Given the description of an element on the screen output the (x, y) to click on. 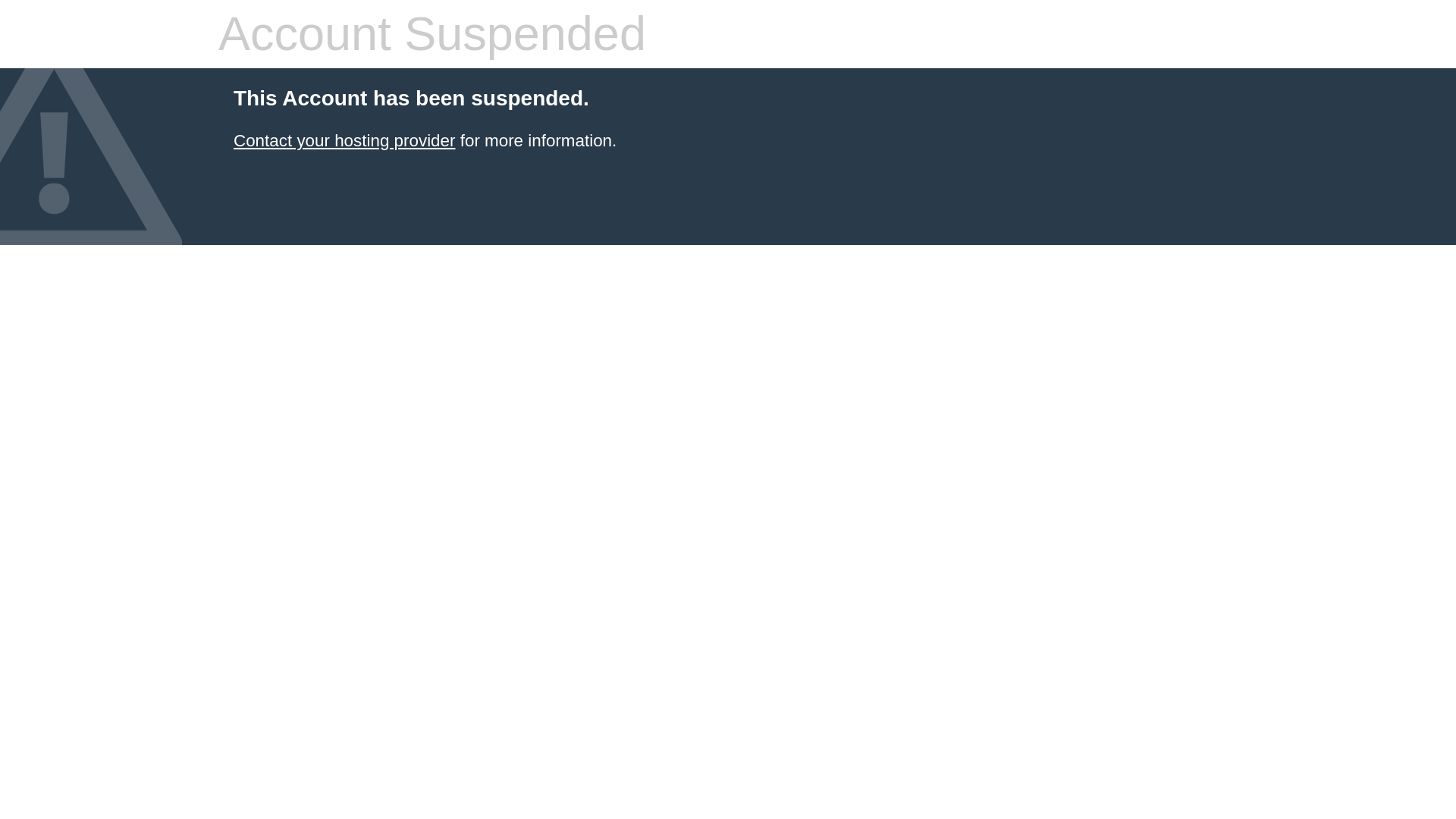
Contact your hosting provider (343, 140)
